Given the description of an element on the screen output the (x, y) to click on. 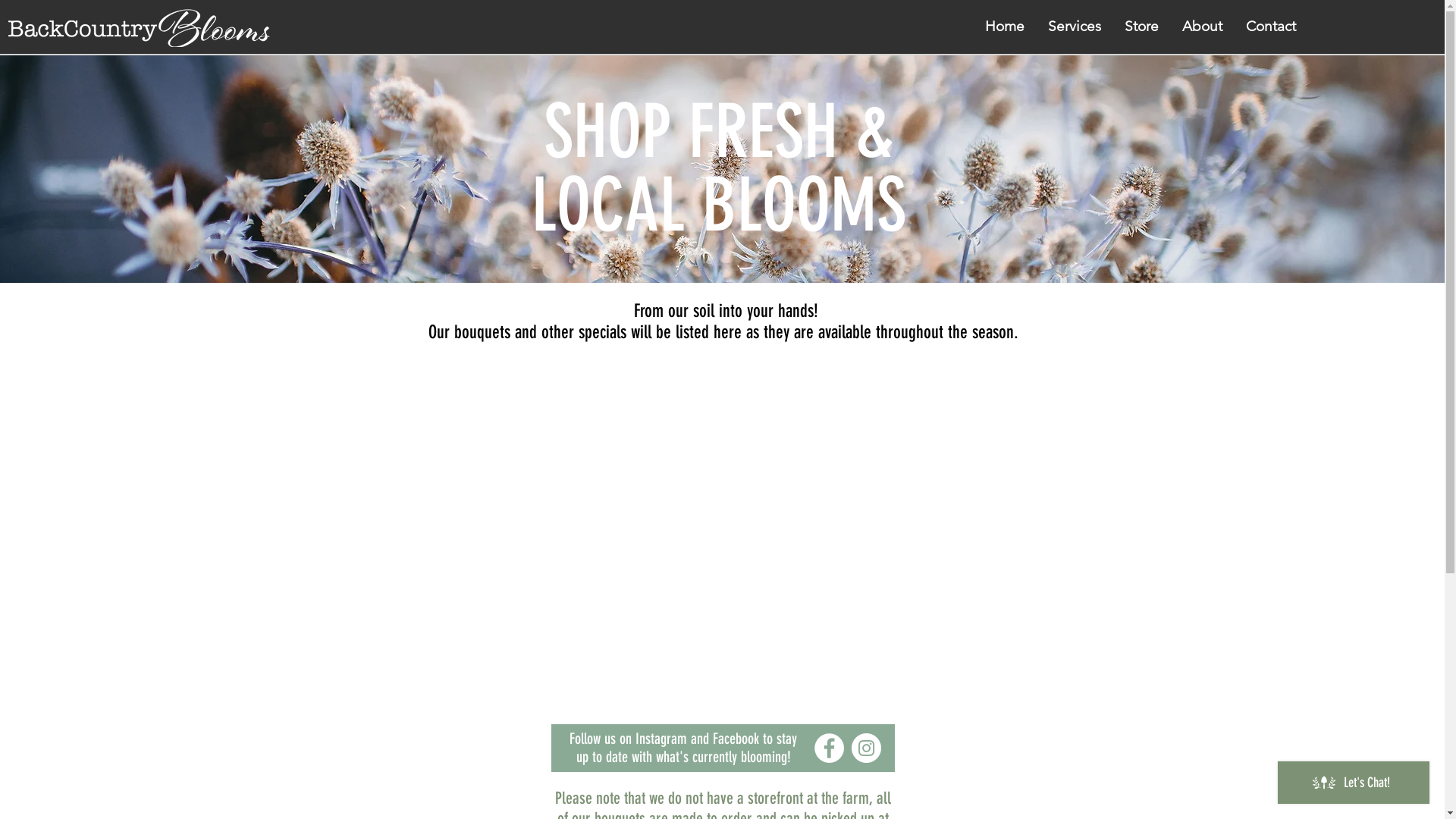
Online Store Element type: hover (721, 542)
About Element type: text (1201, 26)
Contact Element type: text (1270, 26)
Store Element type: text (1141, 26)
Home Element type: text (1004, 26)
